Given the description of an element on the screen output the (x, y) to click on. 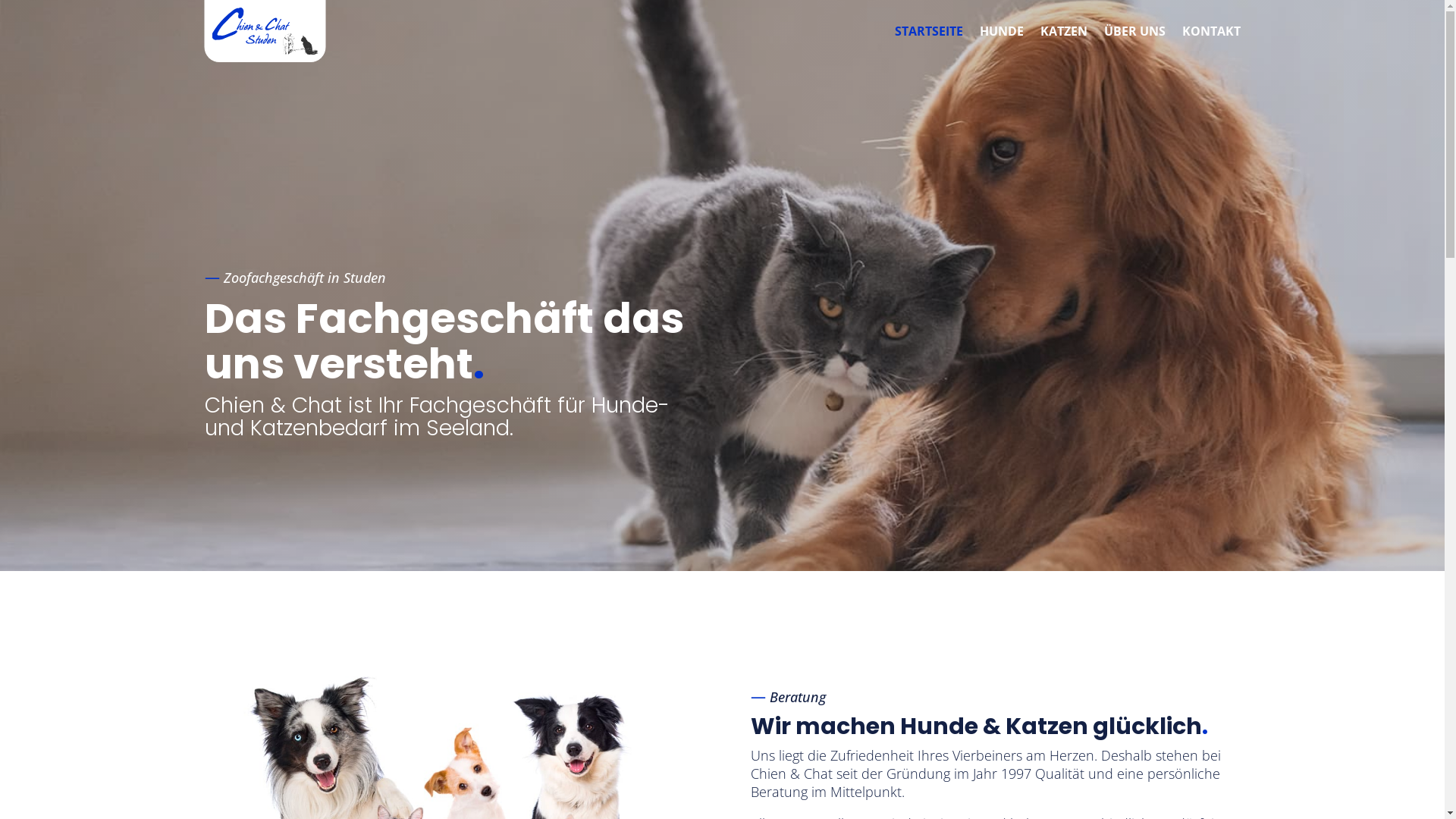
STARTSEITE Element type: text (928, 31)
KATZEN Element type: text (1063, 31)
KONTAKT Element type: text (1210, 31)
HUNDE Element type: text (1001, 31)
